Given the description of an element on the screen output the (x, y) to click on. 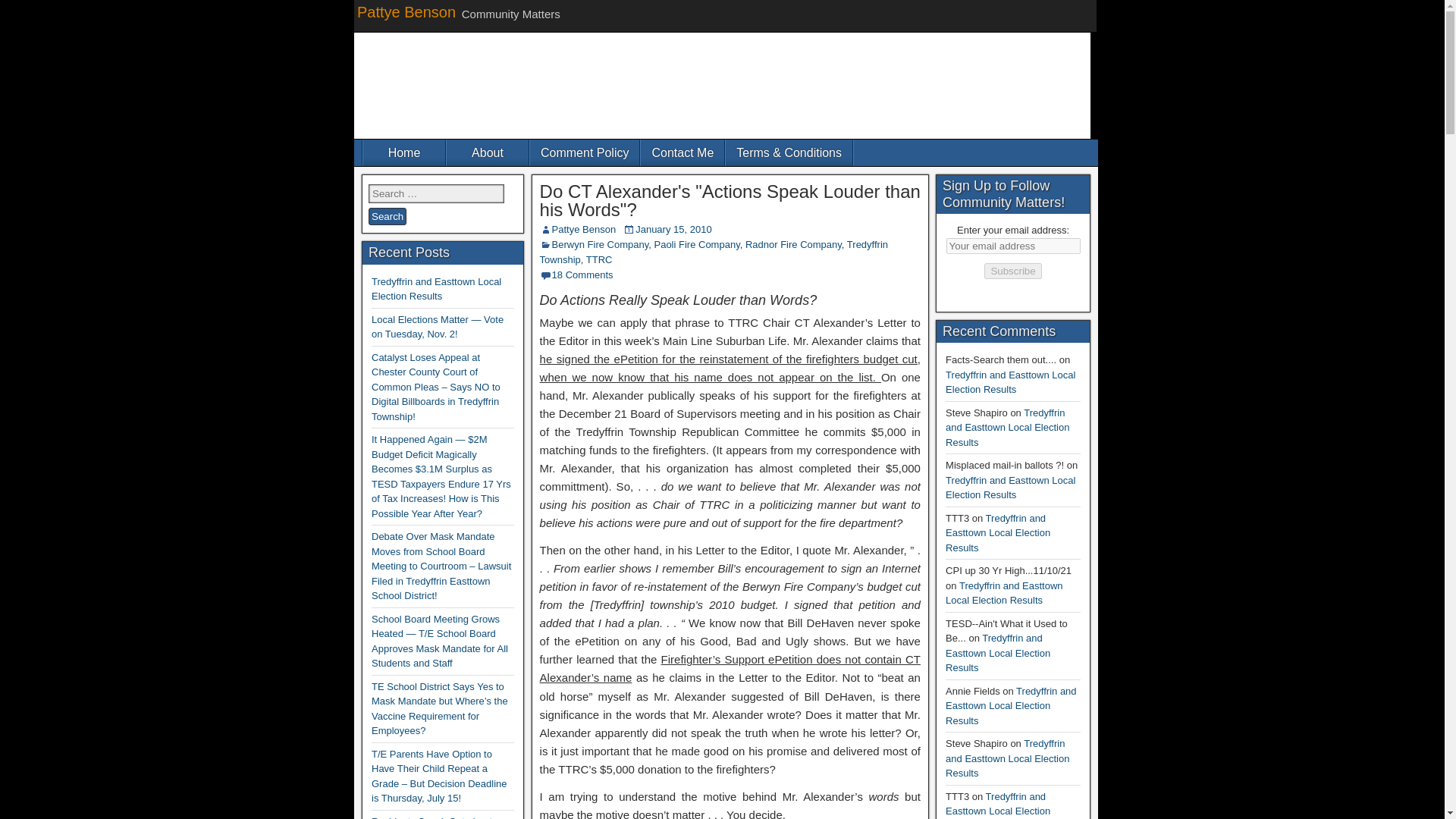
Search (387, 216)
18 Comments (581, 274)
Radnor Fire Company (793, 244)
Search (387, 216)
Tredyffrin Township (714, 252)
Pattye Benson (583, 229)
Contact Me (681, 152)
Do CT Alexander's "Actions Speak Louder than his Words"? (730, 200)
TTRC (599, 259)
Berwyn Fire Company (600, 244)
